Given the description of an element on the screen output the (x, y) to click on. 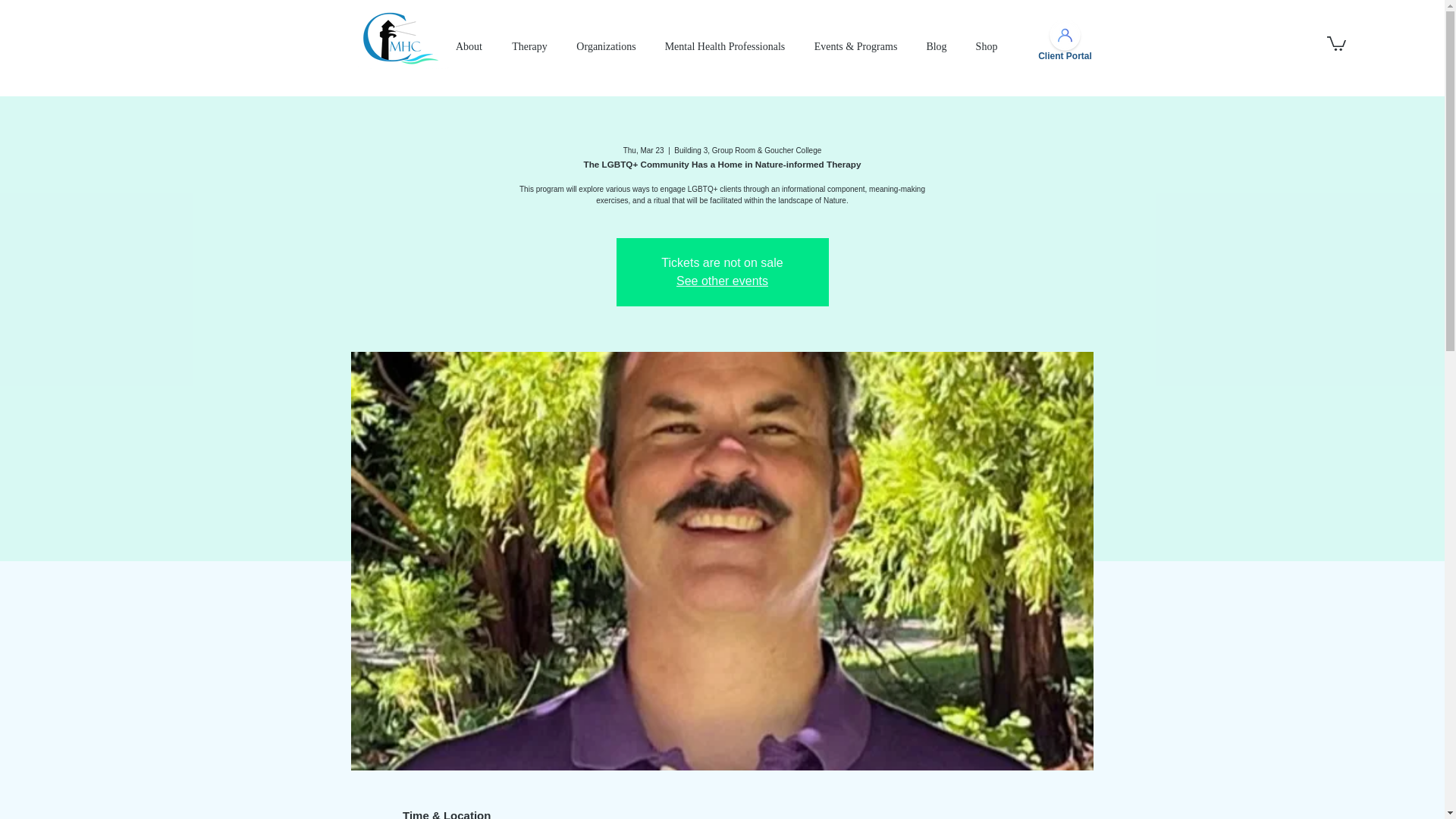
Therapy (529, 46)
Mental Health Professionals (724, 46)
See other events (722, 280)
Organizations (606, 46)
About (469, 46)
Blog (935, 46)
Shop (985, 46)
